Given the description of an element on the screen output the (x, y) to click on. 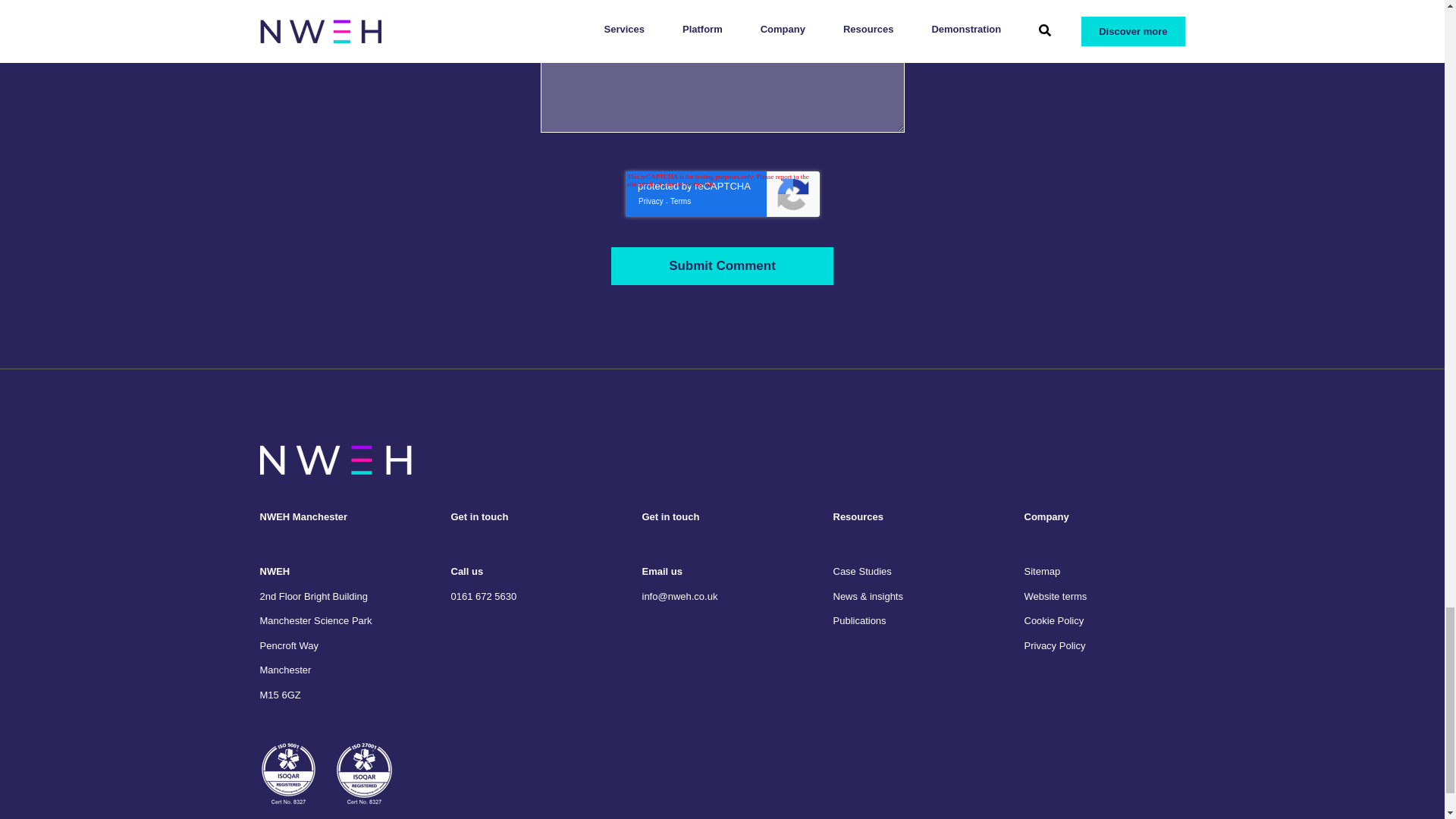
NWEH (334, 460)
Submit Comment (721, 266)
reCAPTCHA (721, 194)
